Given the description of an element on the screen output the (x, y) to click on. 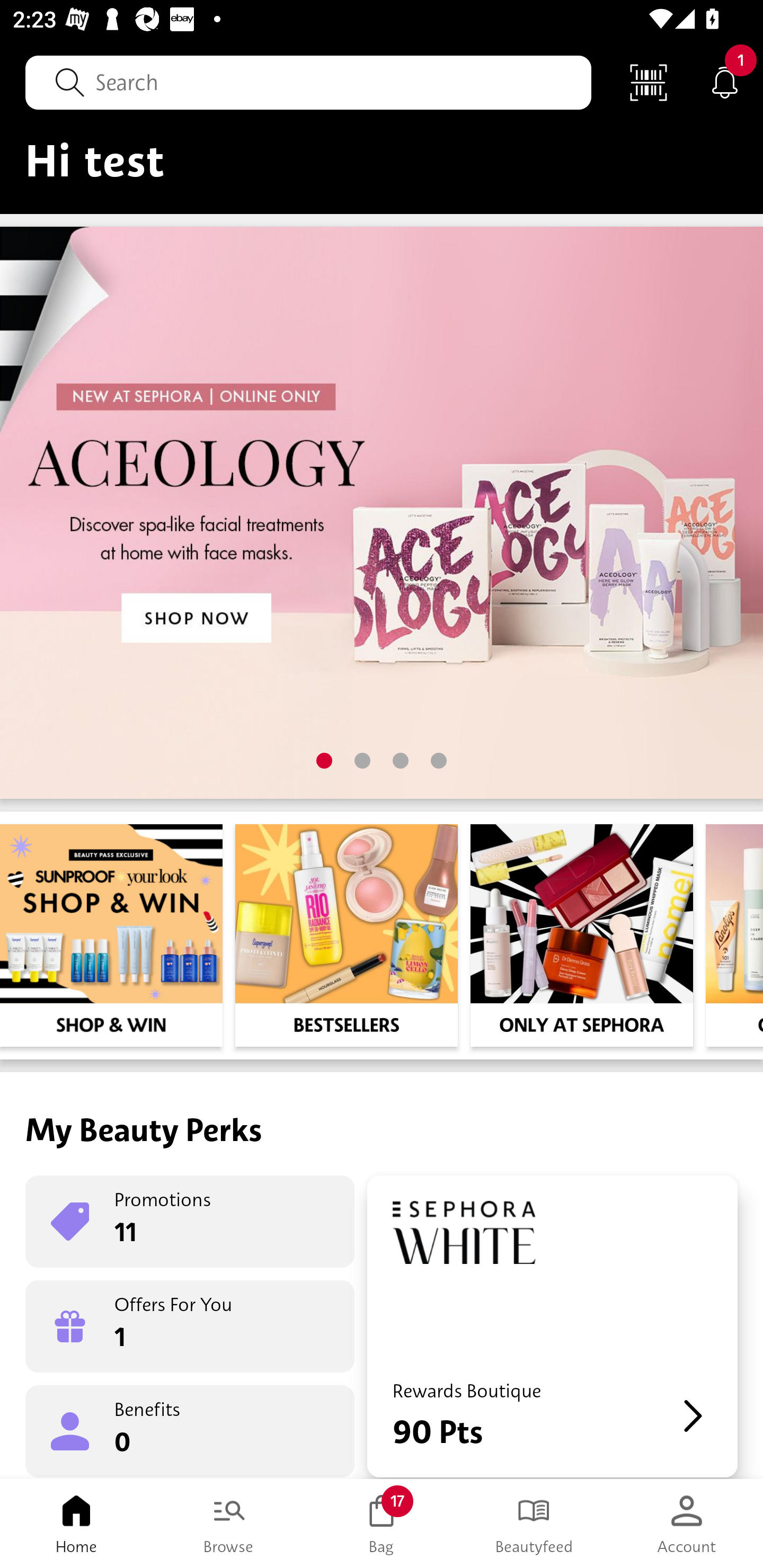
Scan Code (648, 81)
Notifications (724, 81)
Search (308, 81)
Promotions 11 (189, 1221)
Rewards Boutique 90 Pts (552, 1326)
Offers For You 1 (189, 1326)
Benefits 0 (189, 1430)
Browse (228, 1523)
Bag 17 Bag (381, 1523)
Beautyfeed (533, 1523)
Account (686, 1523)
